Given the description of an element on the screen output the (x, y) to click on. 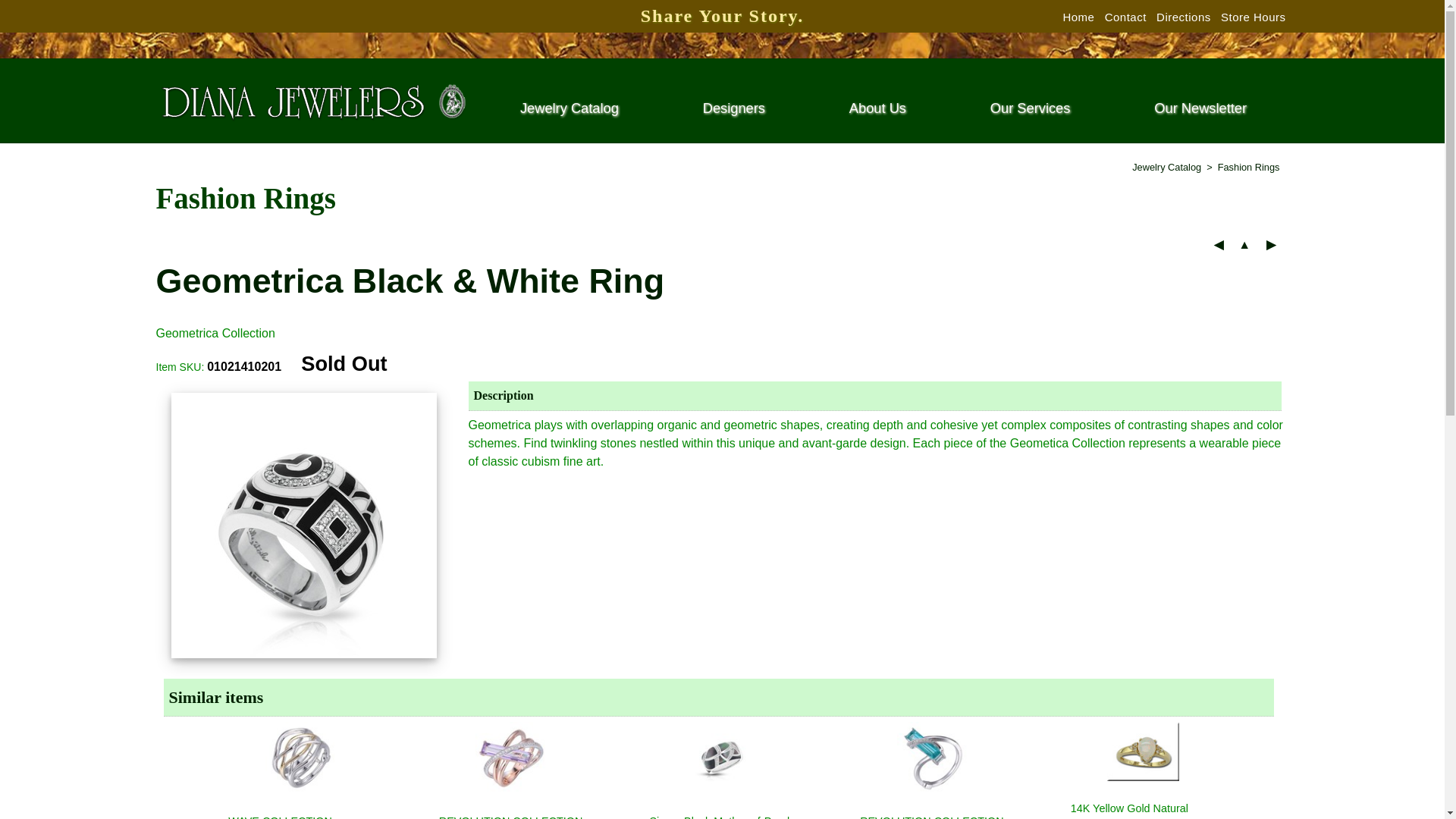
Our Newsletter (1200, 108)
Jewelry Catalog (568, 108)
Home (1078, 16)
REVOLUTION COLLECTION (512, 815)
Designers (734, 108)
Our Services (1030, 108)
Sirena Black Mother-of-Pearl Ring (721, 815)
Store Hours (1252, 16)
Directions (1183, 16)
Contact (1126, 16)
About Us (876, 108)
Click to return to Diana Jewelers Home page (312, 102)
WAVE COLLECTION (301, 815)
Fashion Rings (1248, 166)
Jewelry Catalog (1166, 166)
